Given the description of an element on the screen output the (x, y) to click on. 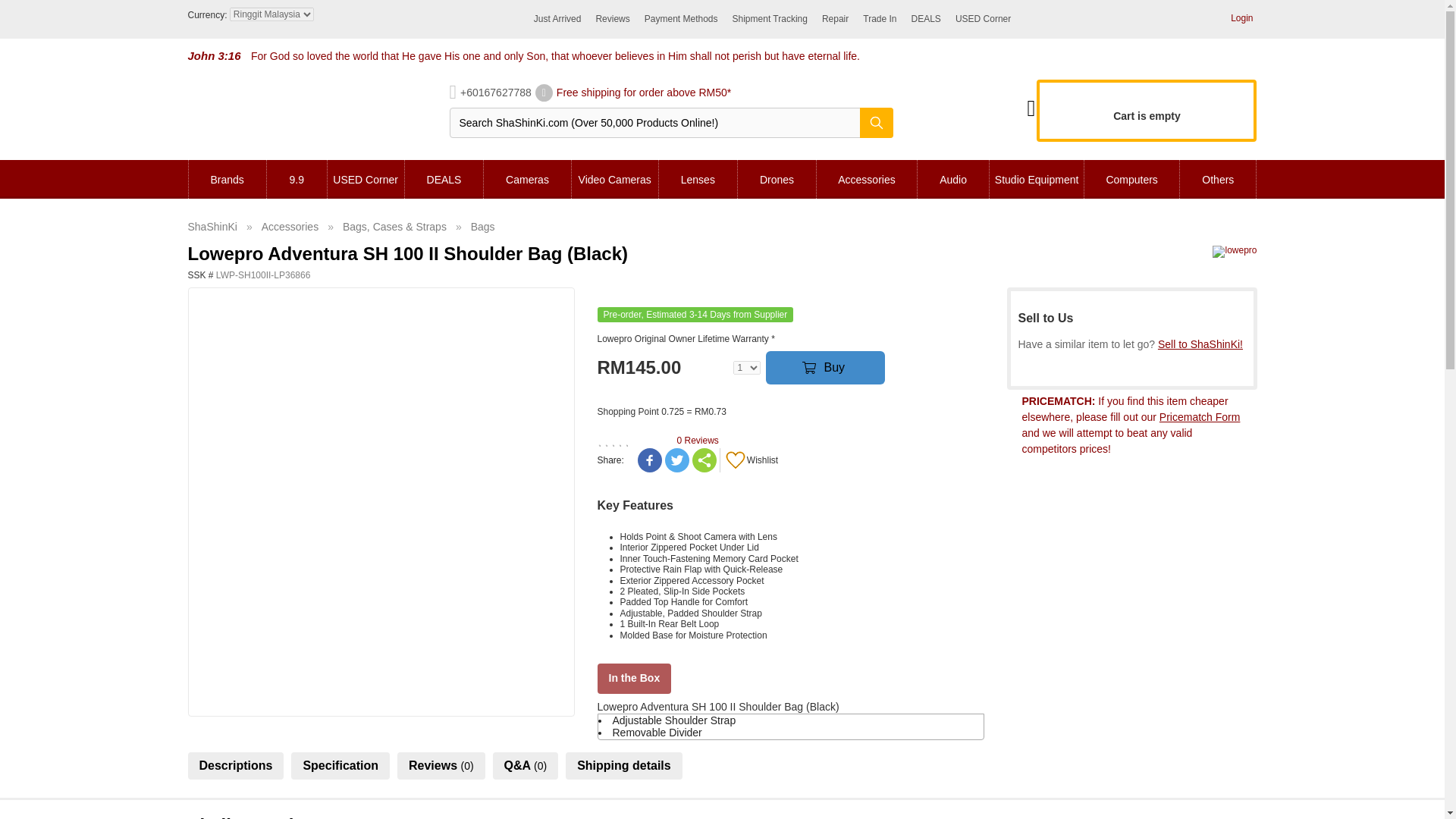
DEALS (925, 18)
Payment Methods (681, 18)
Just Arrived (557, 18)
Repair (835, 18)
Reviews (611, 18)
Shipment Tracking (770, 18)
USED Corner (982, 18)
Trade In (879, 18)
Login (1241, 18)
